Given the description of an element on the screen output the (x, y) to click on. 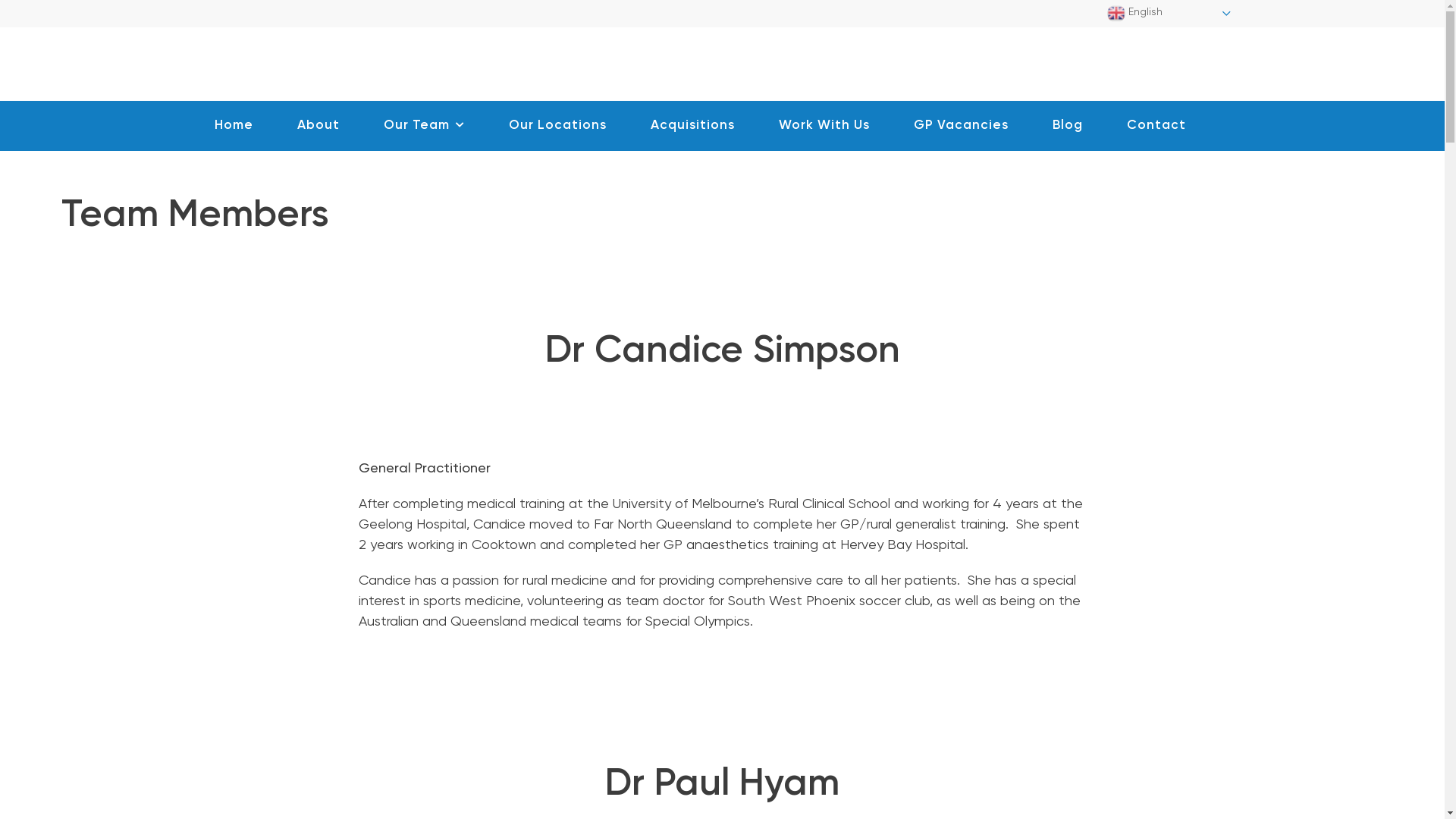
About Element type: text (318, 125)
Blog Element type: text (1067, 125)
Skip to content Element type: text (0, 0)
Acquisitions Element type: text (692, 125)
Work With Us Element type: text (823, 125)
Our Team Element type: text (423, 125)
English Element type: text (1168, 13)
Home Element type: text (232, 125)
Contact Element type: text (1156, 125)
Our Locations Element type: text (557, 125)
GP Vacancies Element type: text (960, 125)
